Given the description of an element on the screen output the (x, y) to click on. 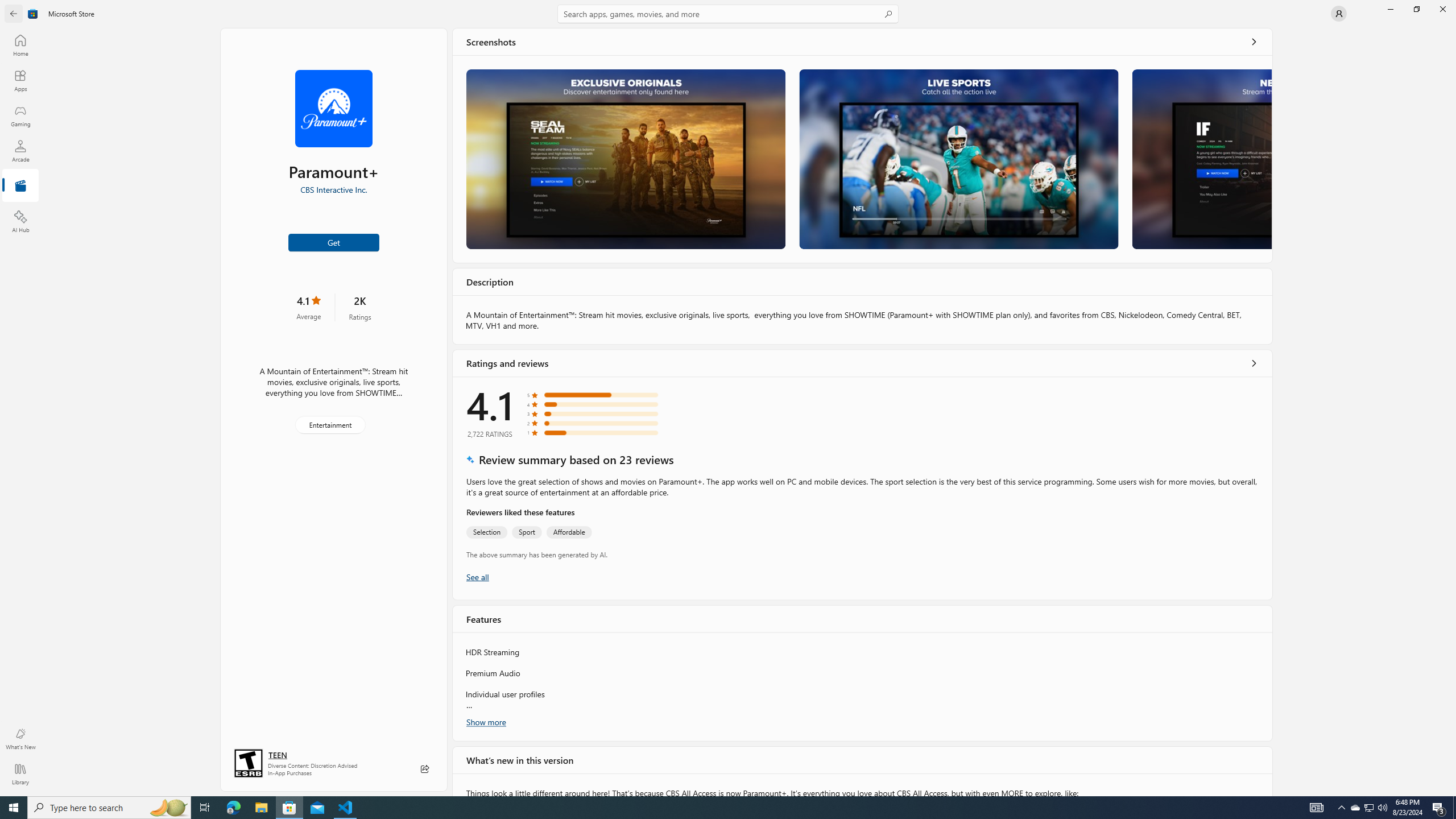
Library (20, 773)
Back (13, 13)
Minimize Microsoft Store (1390, 9)
User profile (1338, 13)
AI Hub (20, 221)
What's New (20, 738)
Share (424, 769)
Entertainment (20, 185)
4.1 stars. Click to skip to ratings and reviews (308, 306)
Home (20, 45)
Class: Image (32, 13)
CBS Interactive Inc. (332, 189)
Apps (20, 80)
Show all ratings and reviews (477, 576)
